Given the description of an element on the screen output the (x, y) to click on. 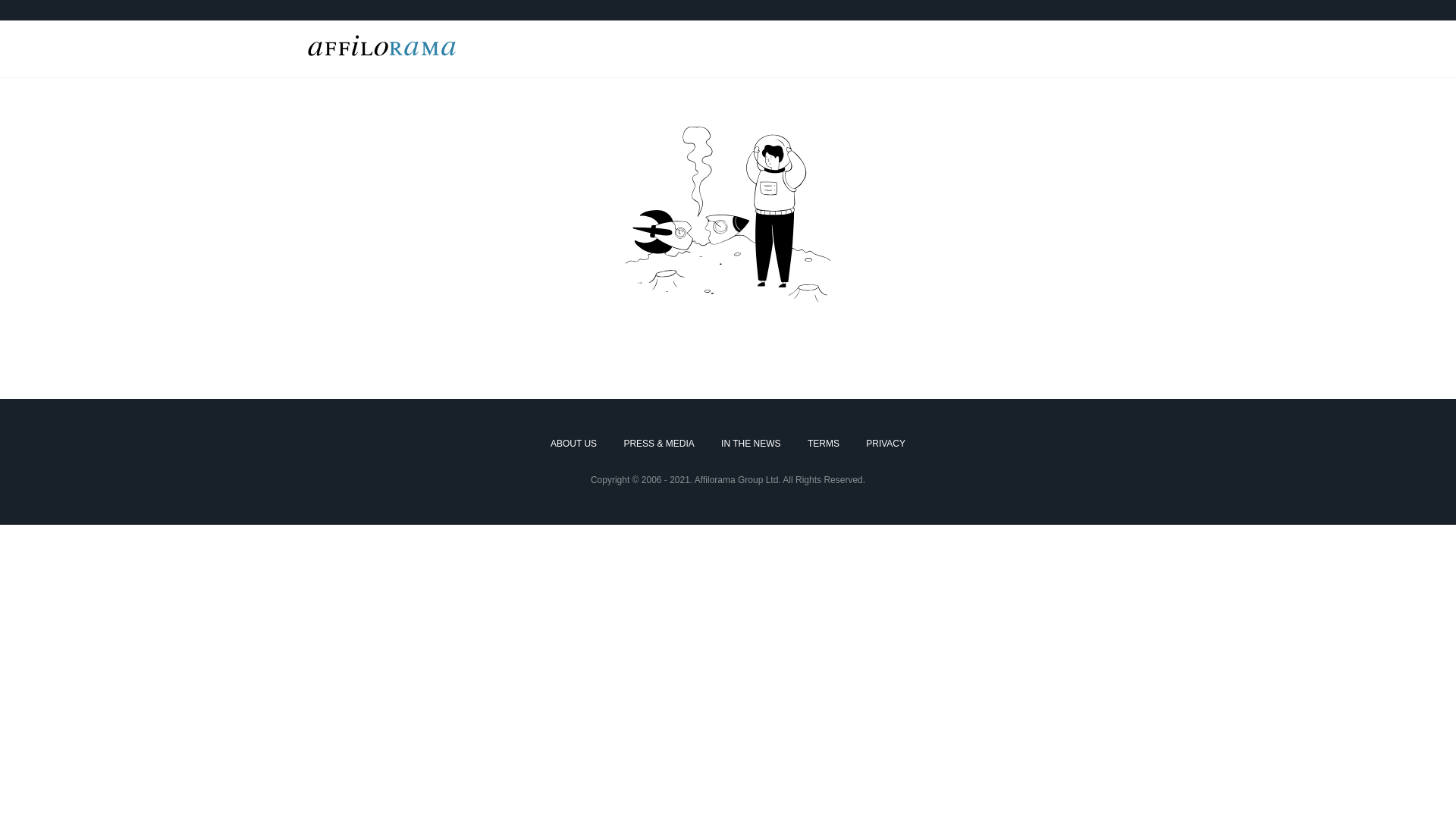
PRIVACY (885, 444)
IN THE NEWS (750, 444)
TERMS (824, 444)
ABOUT US (573, 444)
